Given the description of an element on the screen output the (x, y) to click on. 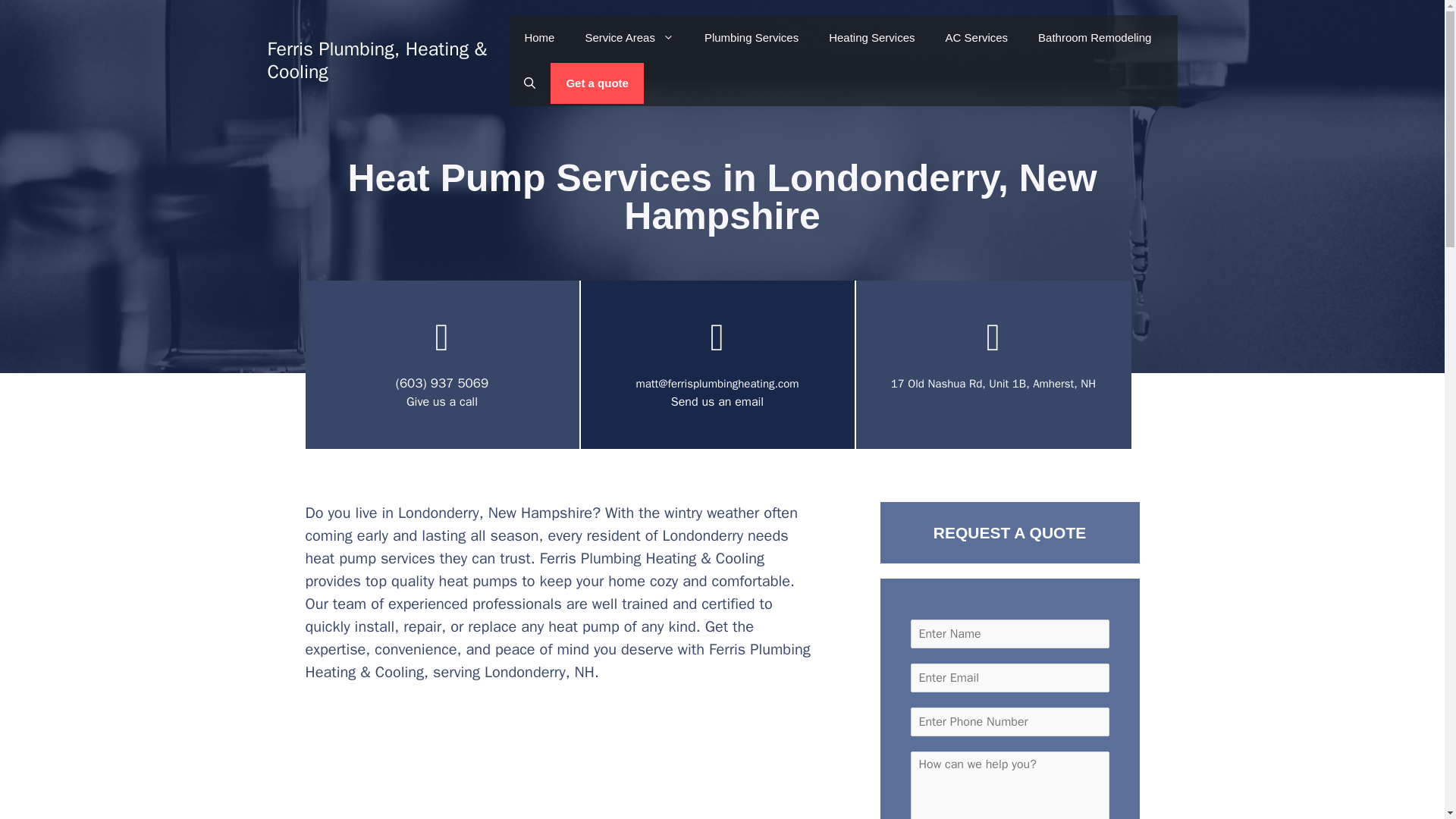
Bathroom Remodeling (1094, 37)
AC Services (976, 37)
Plumbing Services (750, 37)
Service Areas (628, 37)
Home (538, 37)
Get a quote (596, 83)
Heating Services (871, 37)
